Given the description of an element on the screen output the (x, y) to click on. 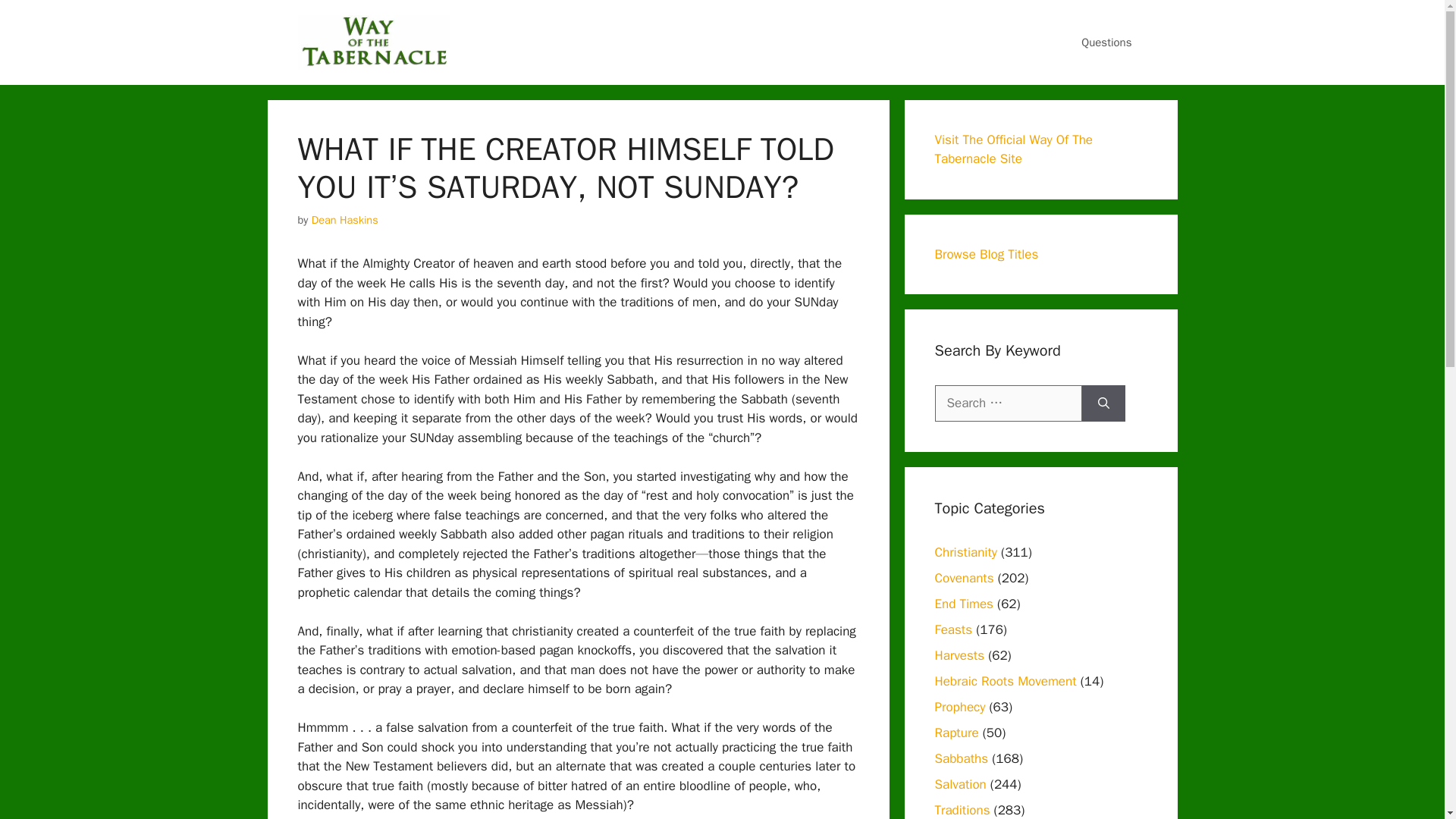
Way Of The Tabernacle Blog (372, 42)
Christianity (964, 552)
View all posts by Dean Haskins (344, 219)
Harvests (959, 655)
Feasts (953, 629)
Dean Haskins (344, 219)
End Times (963, 603)
Covenants (963, 578)
Hebraic Roots Movement (1004, 681)
Visit The Official Way Of The Tabernacle Site (1013, 149)
